Given the description of an element on the screen output the (x, y) to click on. 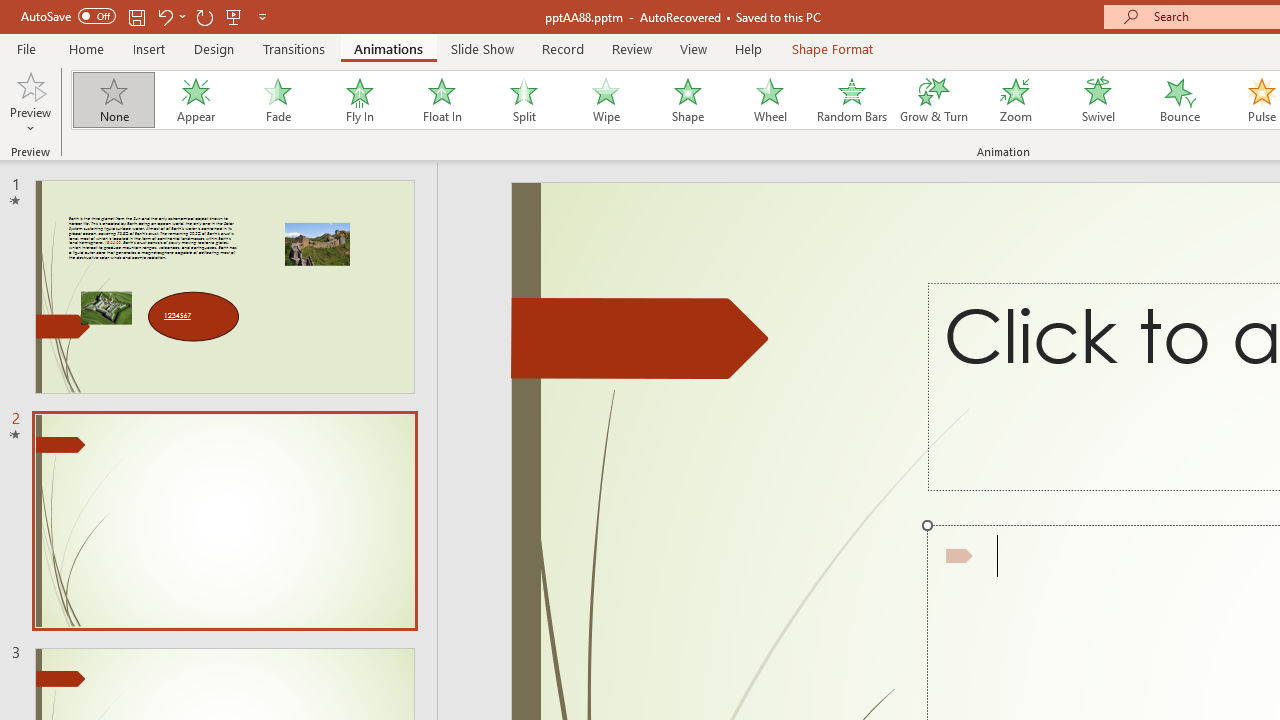
Wheel (770, 100)
Appear (195, 100)
Float In (441, 100)
